Given the description of an element on the screen output the (x, y) to click on. 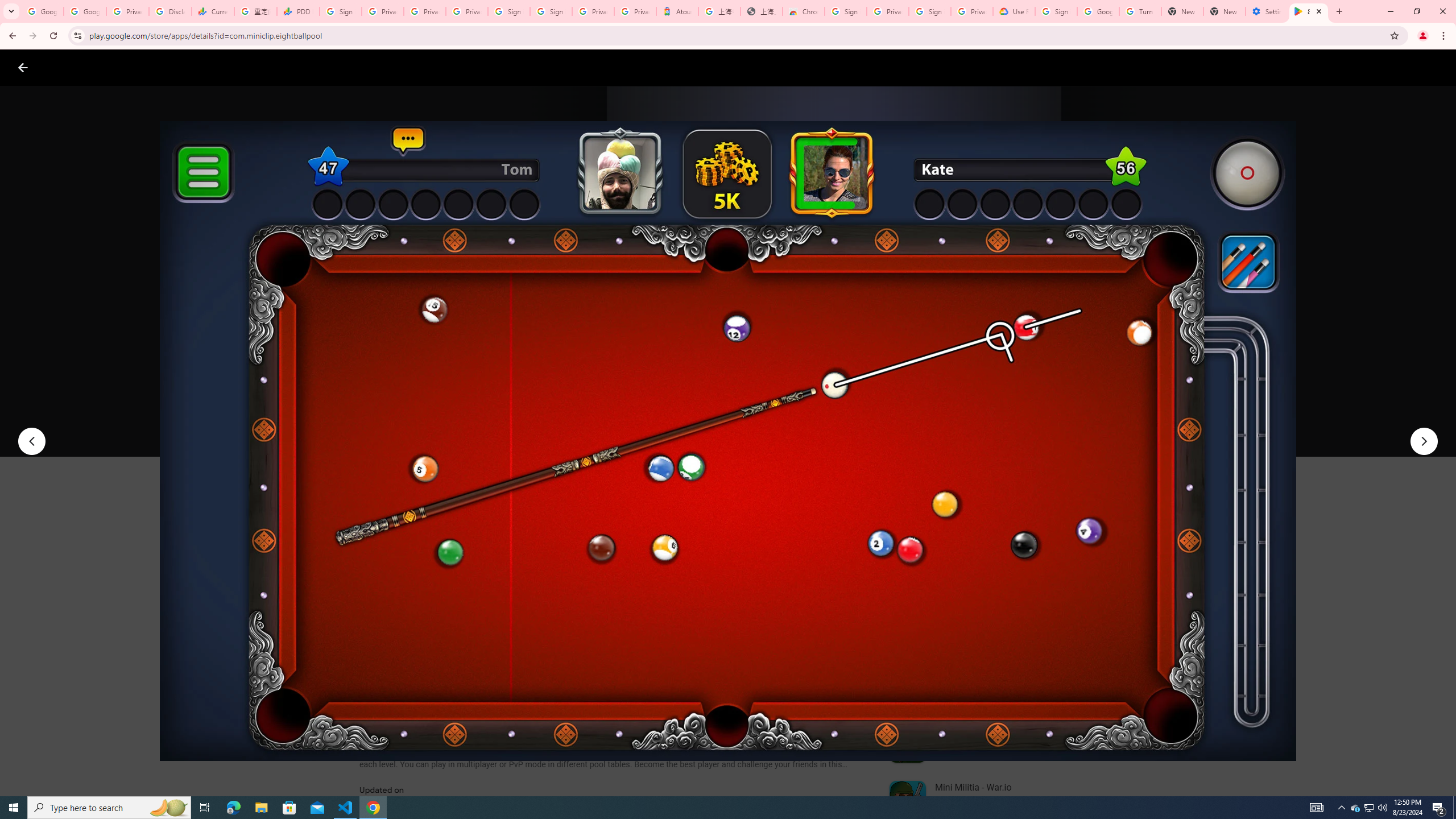
Expand (978, 497)
PDD Holdings Inc - ADR (PDD) Price & News - Google Finance (298, 11)
Sign in - Google Accounts (845, 11)
See more information on About this game (472, 681)
Turn cookies on or off - Computer - Google Account Help (1139, 11)
Help Center (1409, 67)
Sign in - Google Accounts (509, 11)
